Given the description of an element on the screen output the (x, y) to click on. 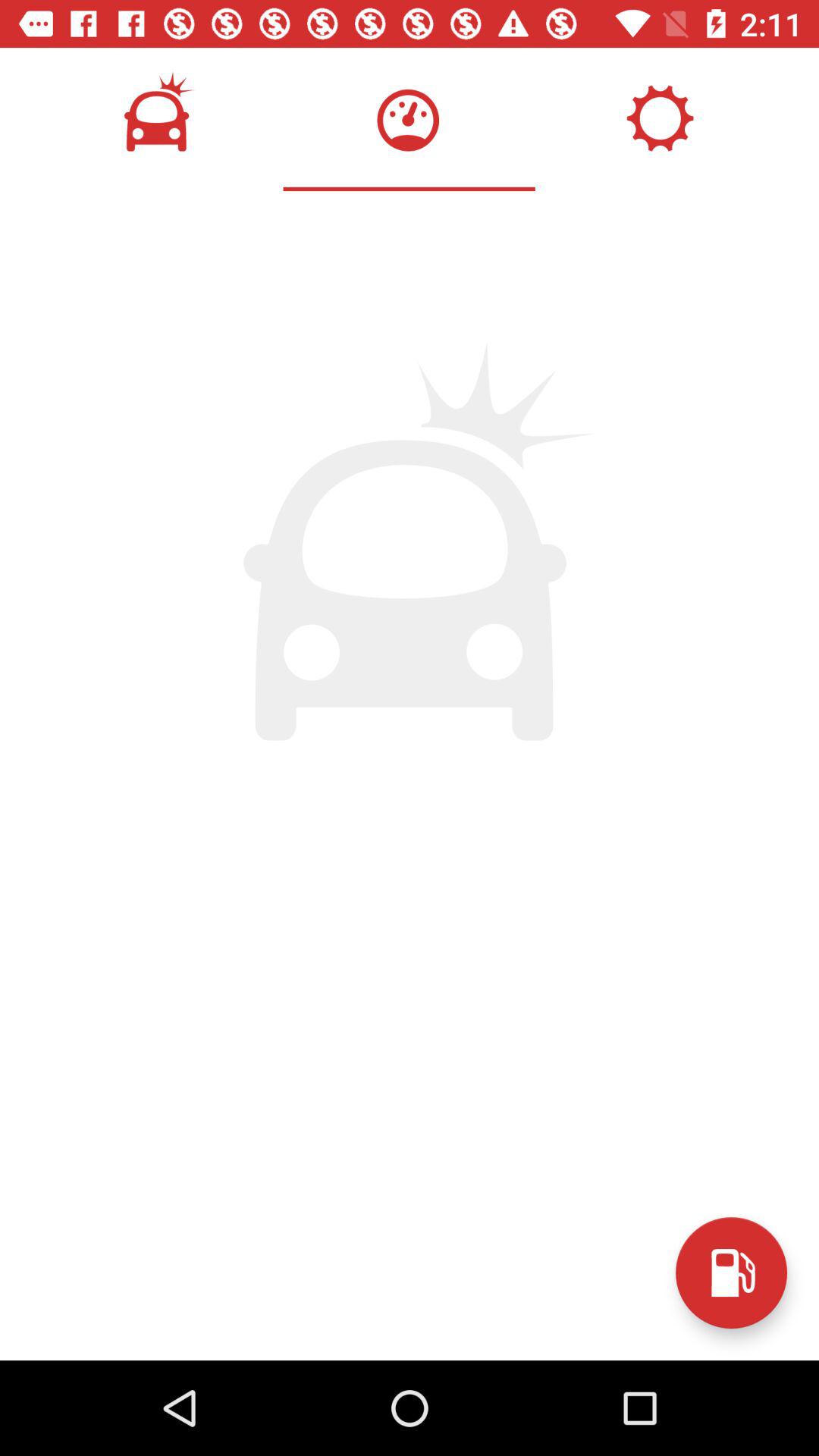
add new gas refill option (731, 1272)
